Given the description of an element on the screen output the (x, y) to click on. 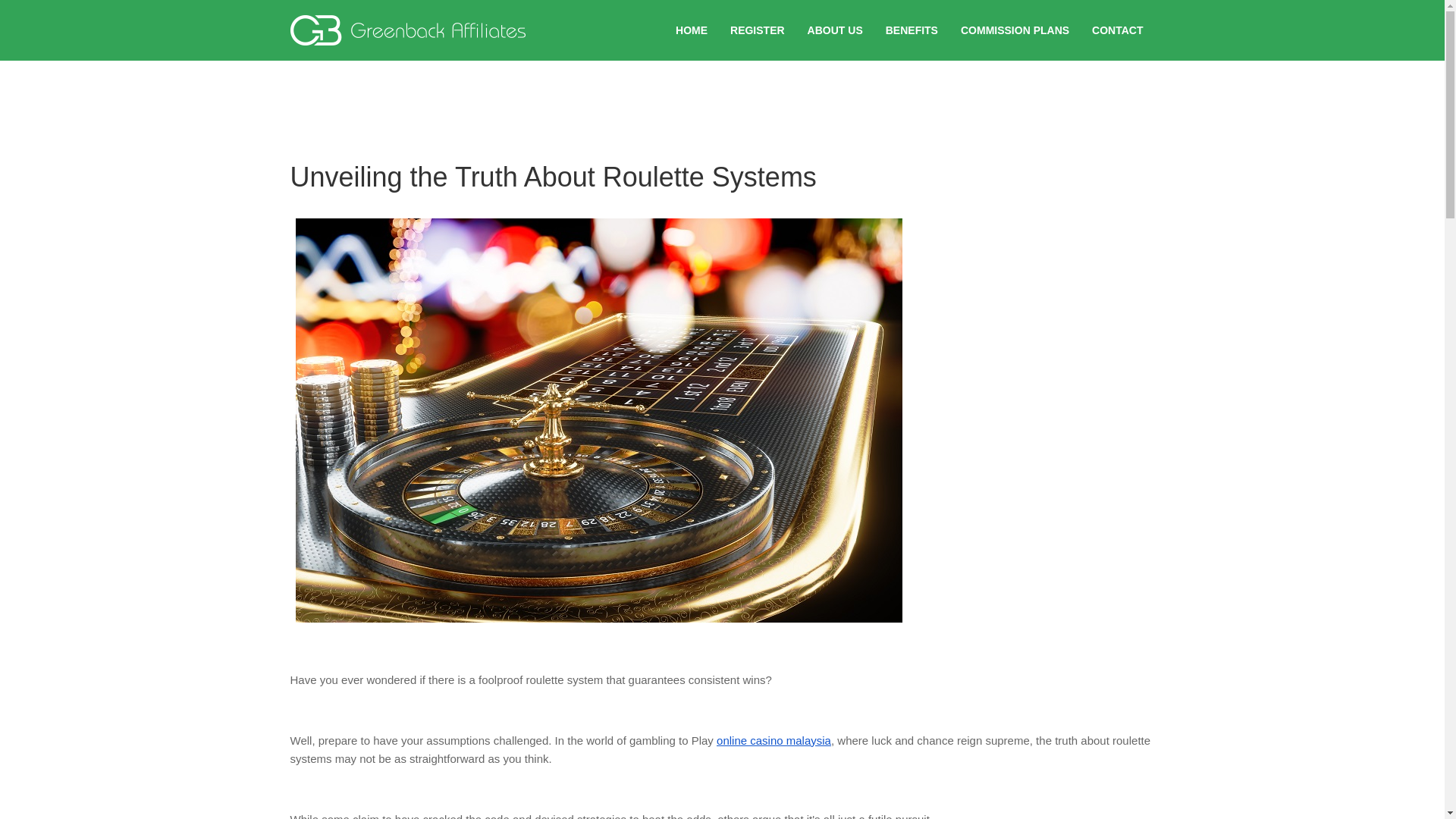
HOME (691, 30)
REGISTER (757, 30)
HOME (691, 30)
ABOUT US (835, 30)
REGISTER (757, 30)
ABOUT US (835, 30)
online casino malaysia (773, 740)
BENEFITS (912, 30)
BENEFITS (912, 30)
COMMISSION PLANS (1014, 30)
